Given the description of an element on the screen output the (x, y) to click on. 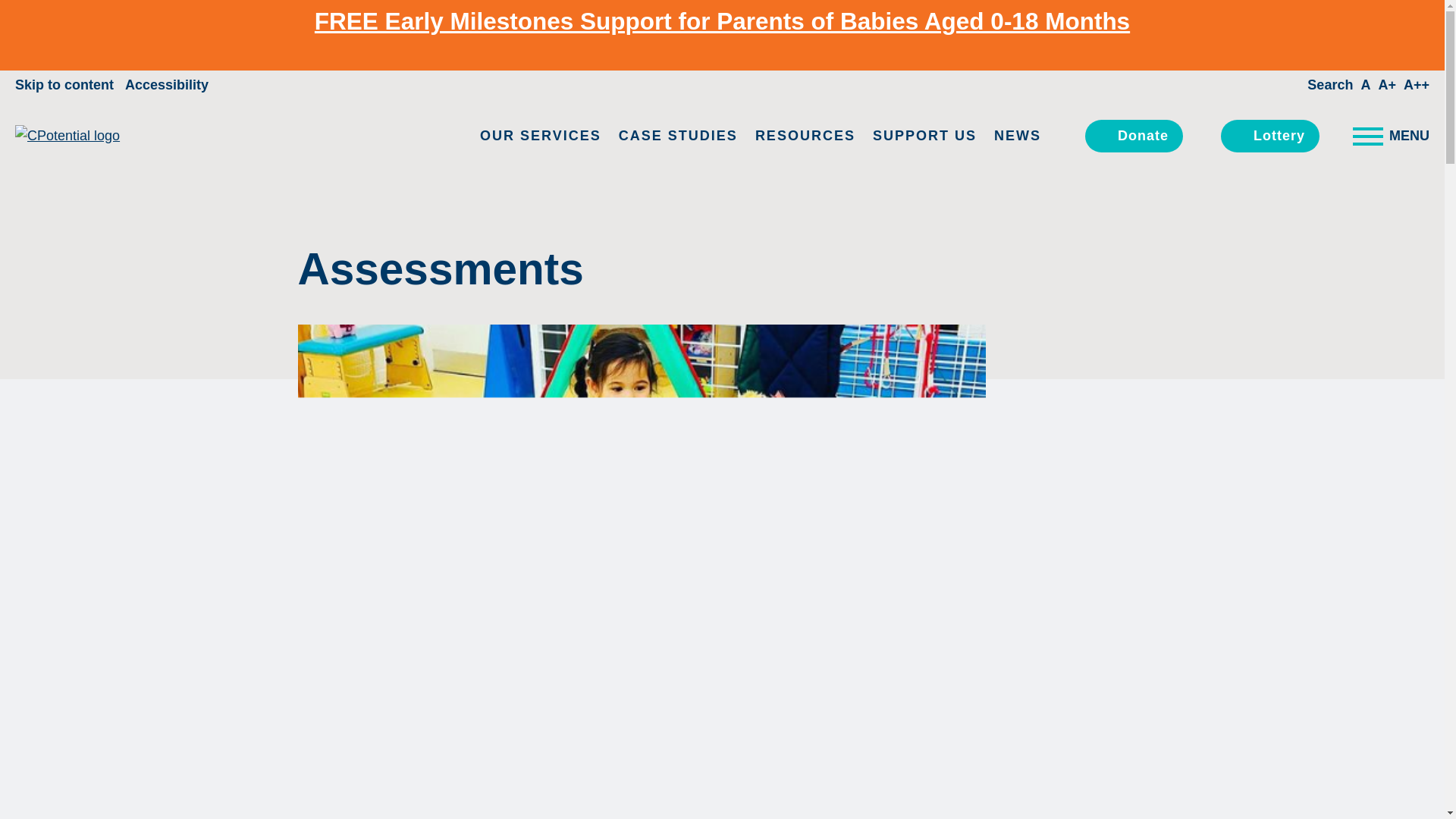
NEWS (1017, 136)
Donate (1133, 135)
RESOURCES (805, 136)
Lottery (1270, 135)
MENU (1382, 135)
A (1364, 84)
SUPPORT US (924, 136)
OUR SERVICES (540, 136)
Search (1329, 84)
CASE STUDIES (678, 136)
Skip to content (63, 84)
Accessibility (166, 84)
